Given the description of an element on the screen output the (x, y) to click on. 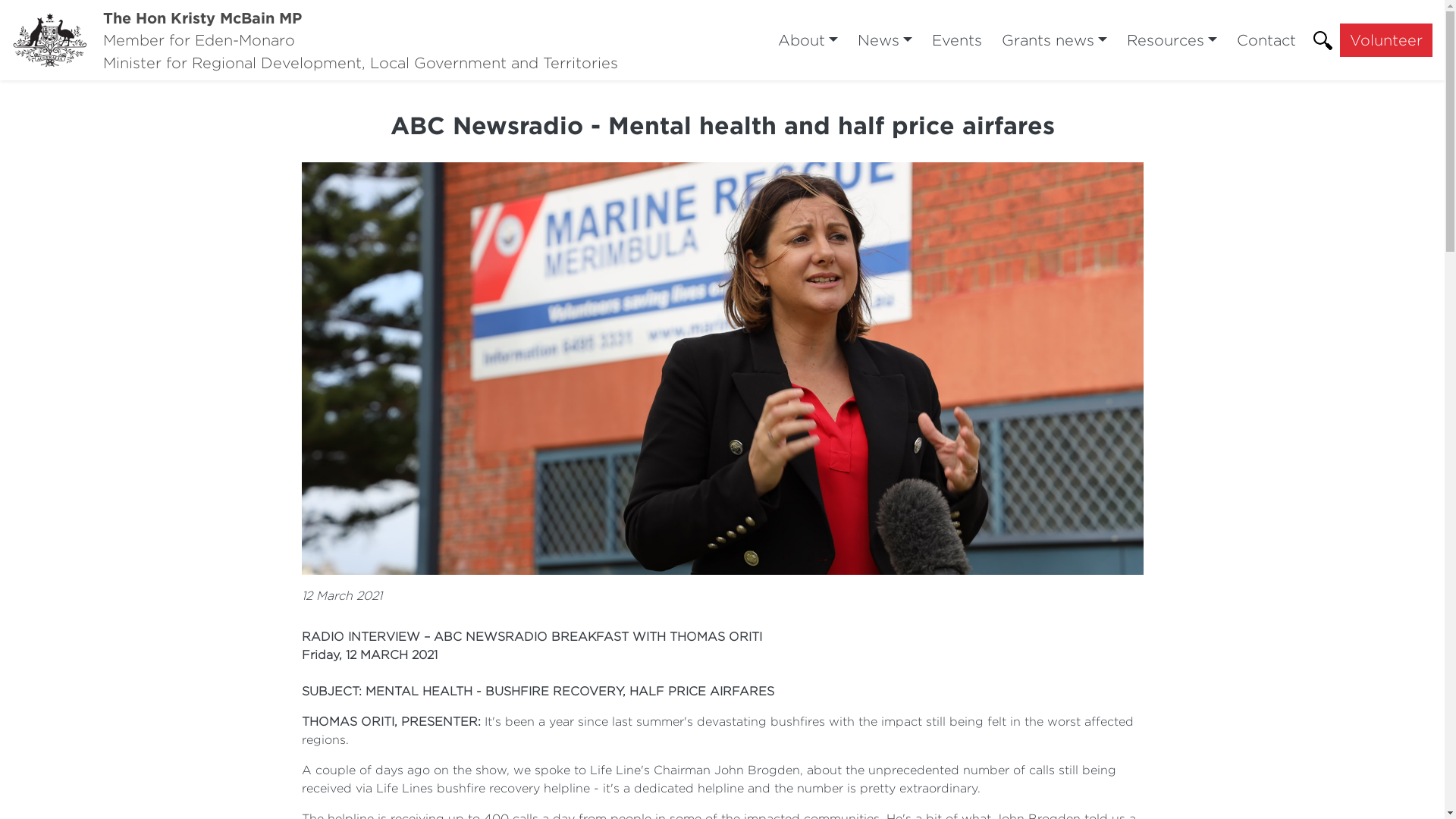
Resources Element type: text (1171, 39)
Events Element type: text (956, 39)
News Element type: text (884, 39)
Volunteer Element type: text (1385, 39)
Grants news Element type: text (1054, 39)
About Element type: text (807, 39)
Contact Element type: text (1265, 39)
